Given the description of an element on the screen output the (x, y) to click on. 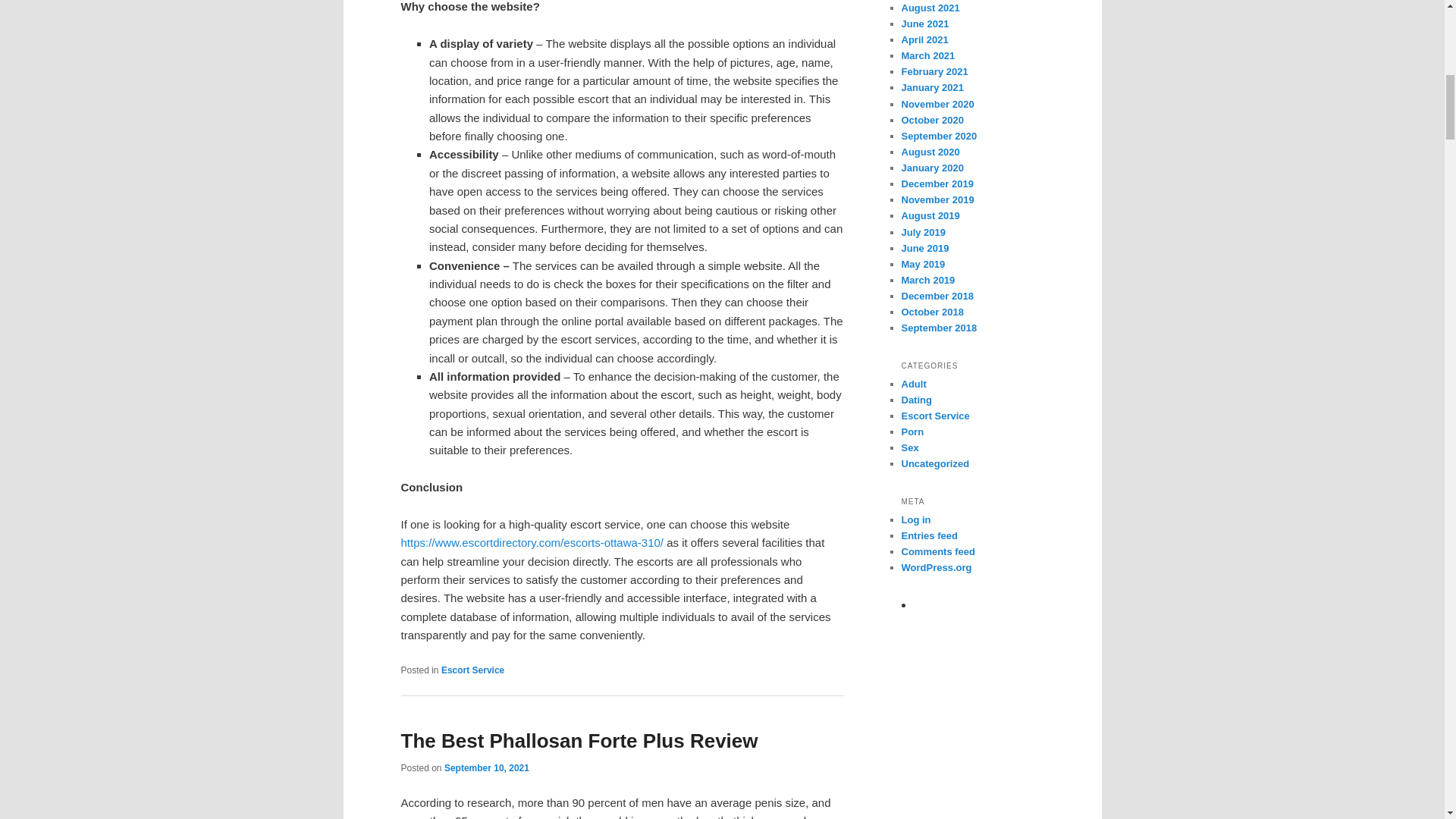
September 10, 2021 (486, 767)
Escort Service (472, 670)
8:21 am (486, 767)
The Best Phallosan Forte Plus Review (578, 740)
